Given the description of an element on the screen output the (x, y) to click on. 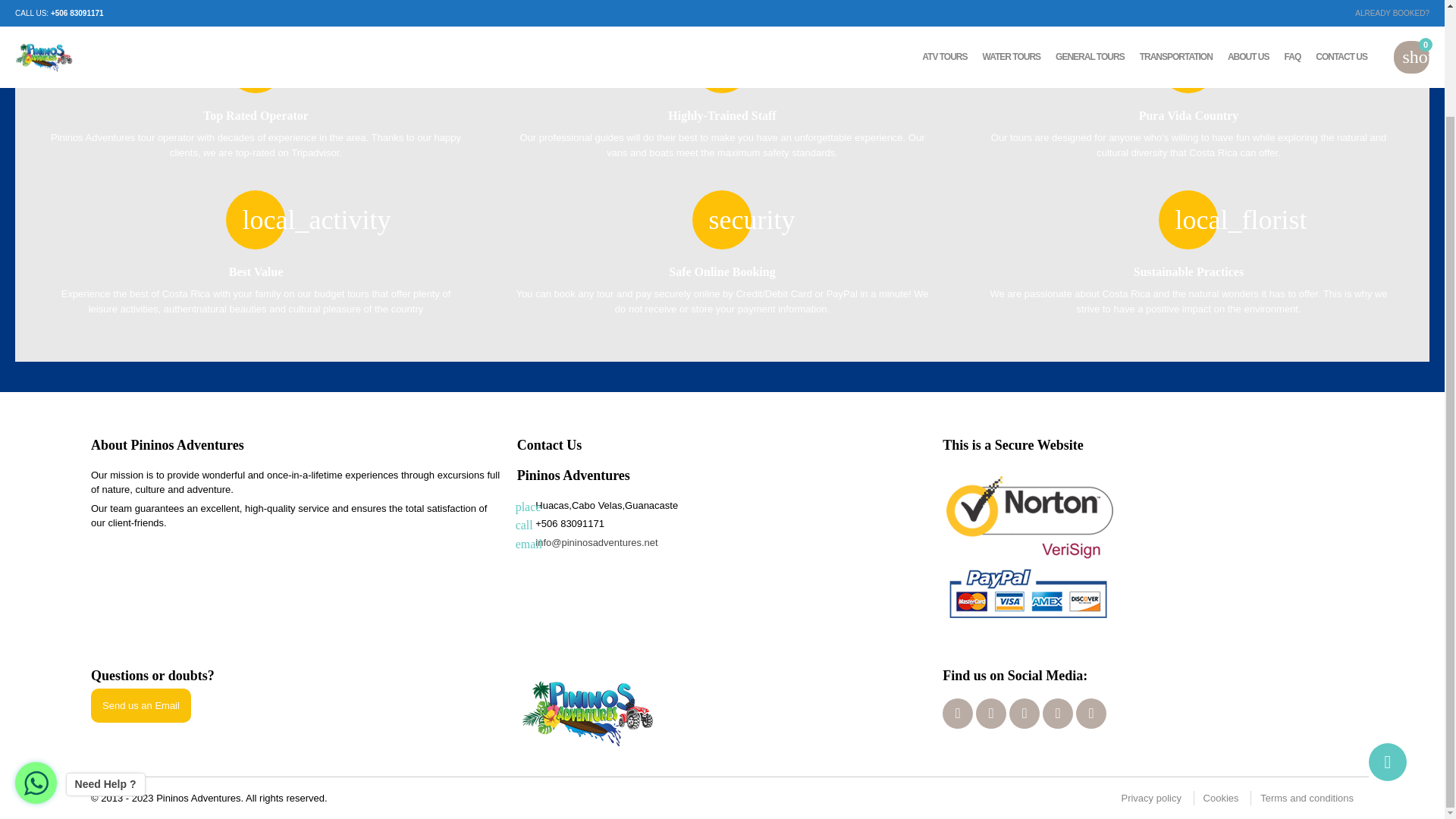
Privacy policy (1150, 797)
tripadvisor (1090, 713)
Terms and conditions (1307, 797)
googleplus (990, 713)
whatsapp (1024, 713)
Cookies (1221, 797)
Back up (1387, 637)
instagram (1057, 713)
Send us an Email (140, 705)
facebook (957, 713)
